Given the description of an element on the screen output the (x, y) to click on. 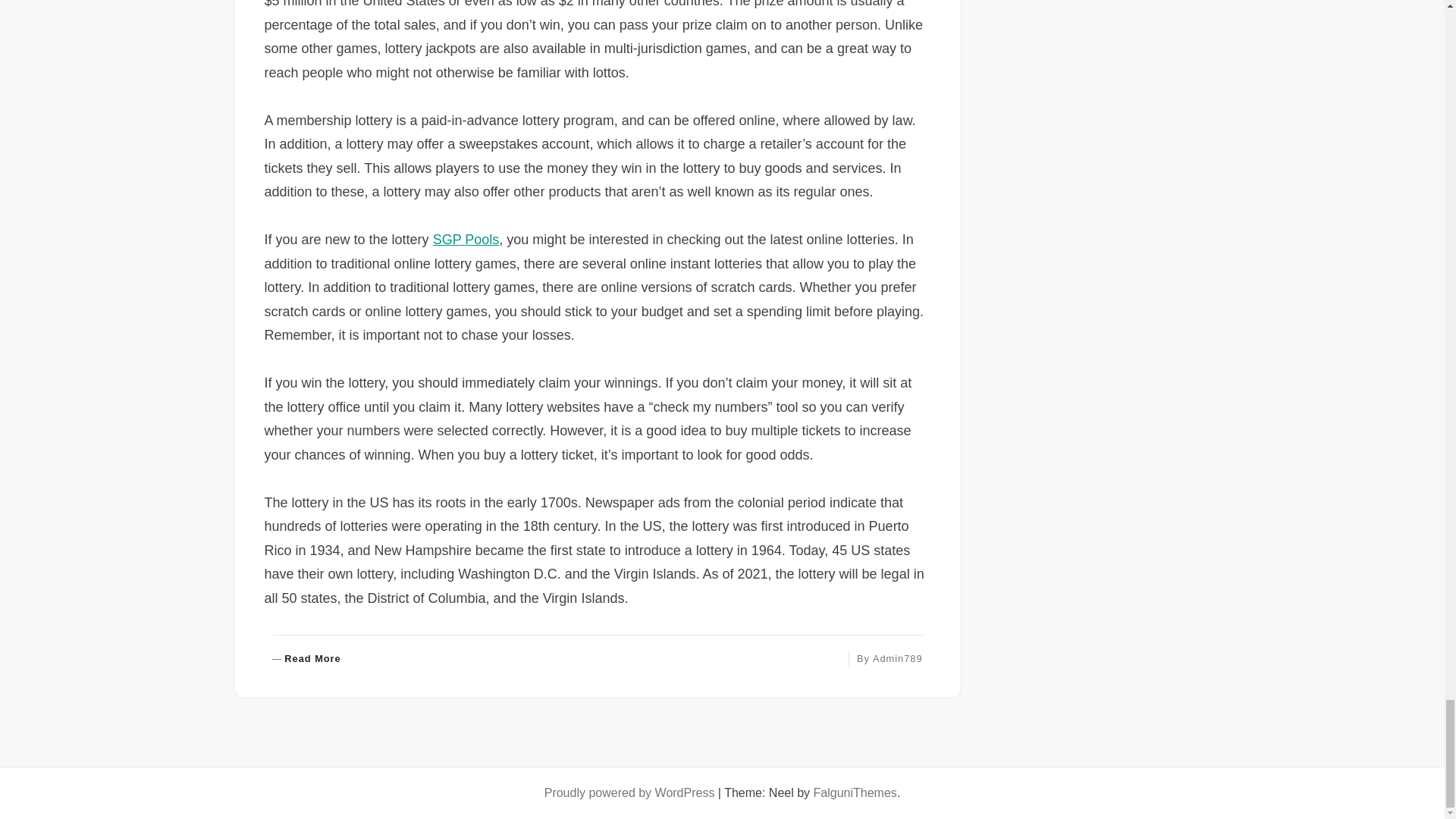
SGP Pools (305, 658)
Admin789 (465, 239)
